Given the description of an element on the screen output the (x, y) to click on. 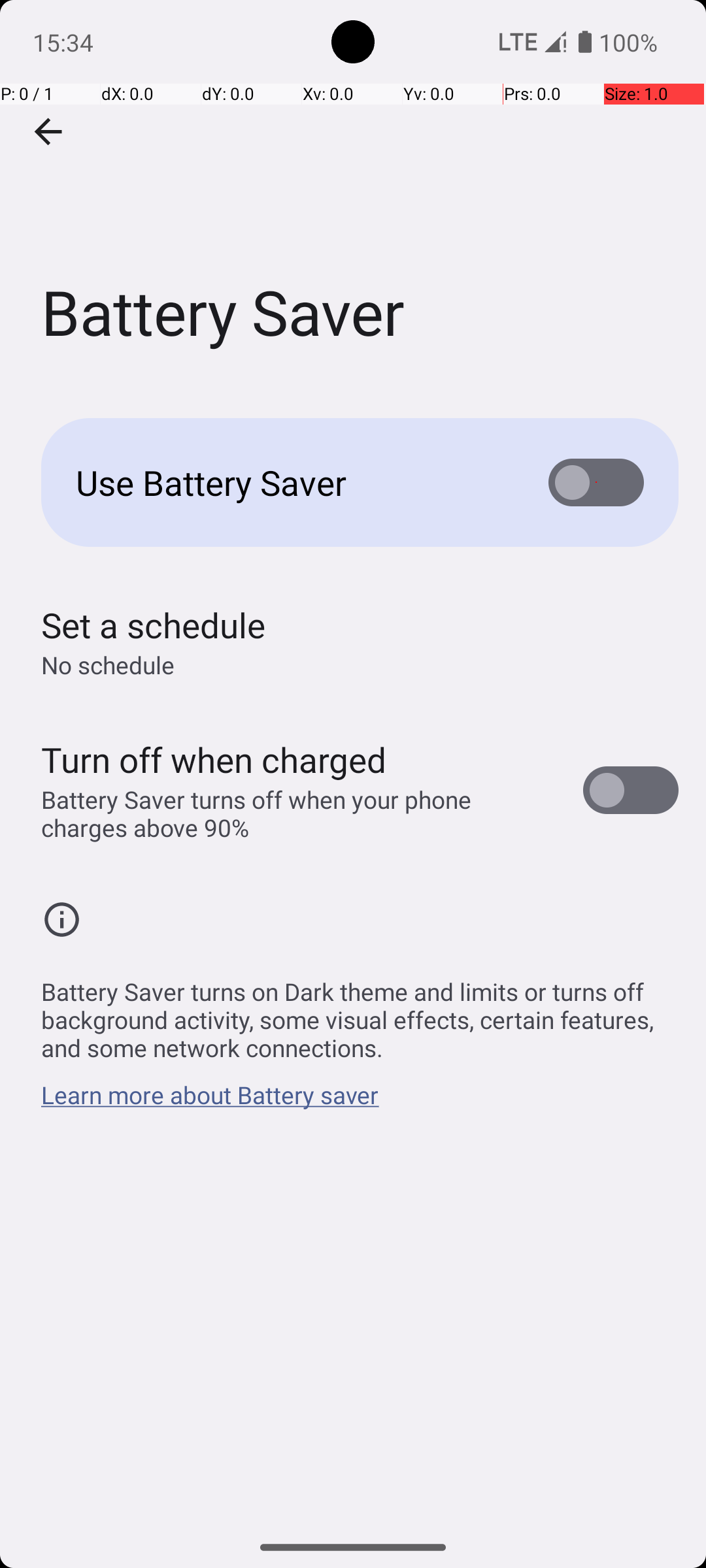
Use Battery Saver Element type: android.widget.TextView (291, 482)
Set a schedule Element type: android.widget.TextView (153, 624)
No schedule Element type: android.widget.TextView (107, 664)
Turn off when charged Element type: android.widget.TextView (213, 759)
Battery Saver turns off when your phone charges above 90% Element type: android.widget.TextView (298, 813)
Battery Saver turns on Dark theme and limits or turns off background activity, some visual effects, certain features, and some network connections. Element type: android.widget.TextView (359, 1012)
Learn more about Battery saver Element type: android.widget.TextView (210, 1101)
